Given the description of an element on the screen output the (x, y) to click on. 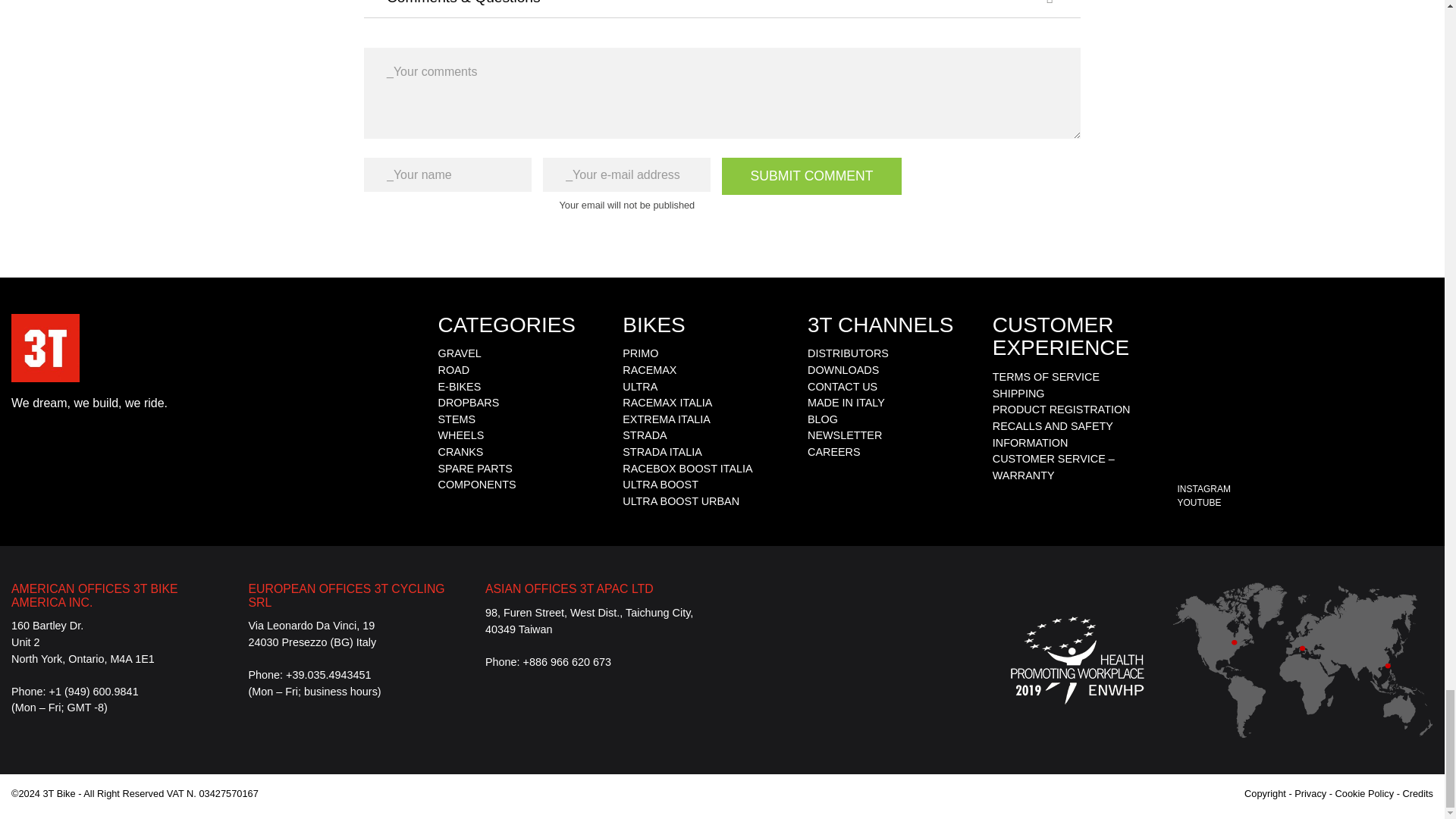
Submit comment (811, 176)
